Given the description of an element on the screen output the (x, y) to click on. 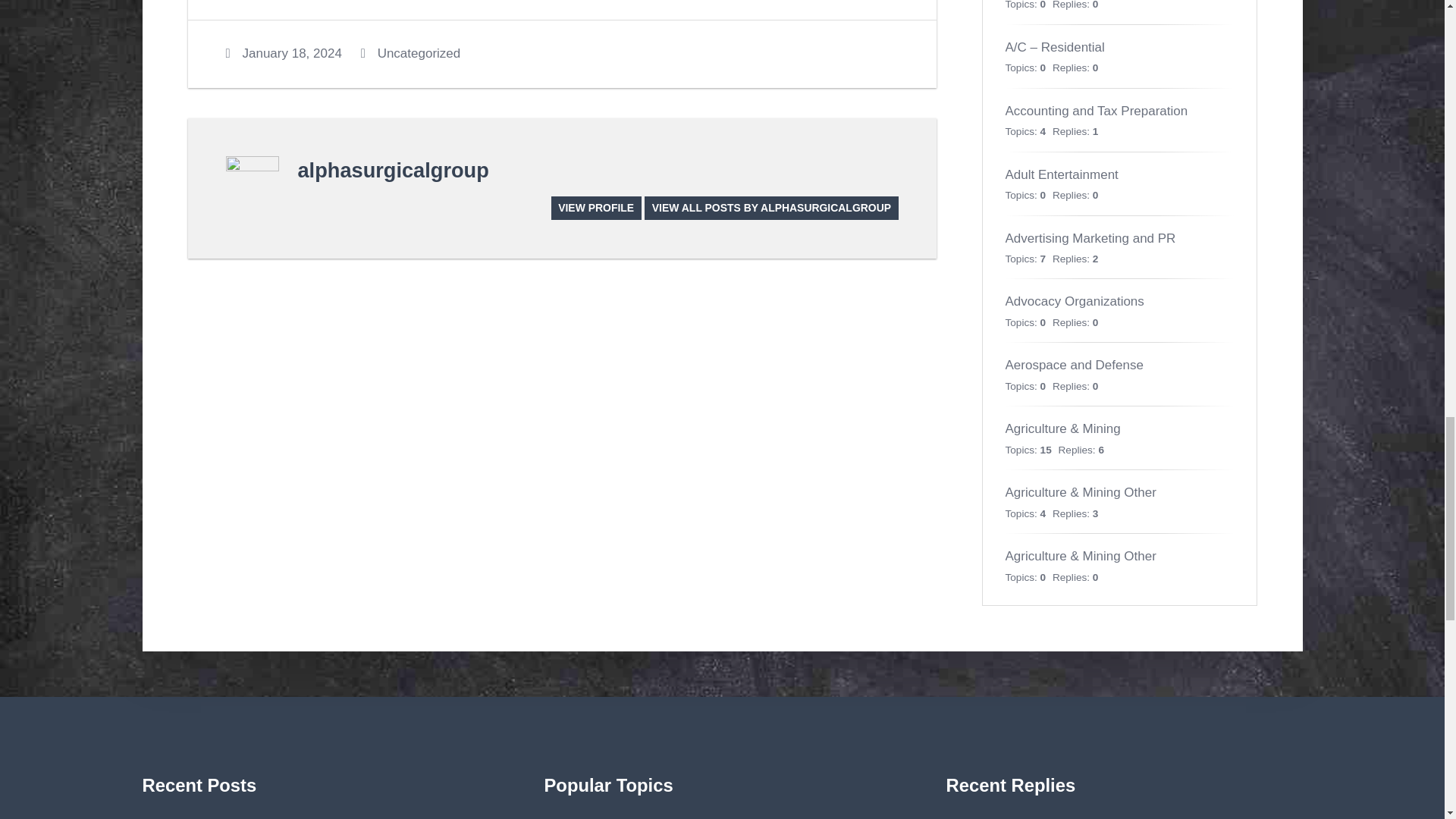
alphasurgicalgroup (392, 169)
Uncategorized (419, 52)
VIEW ALL POSTS BY ALPHASURGICALGROUP (771, 208)
VIEW PROFILE (596, 208)
